Given the description of an element on the screen output the (x, y) to click on. 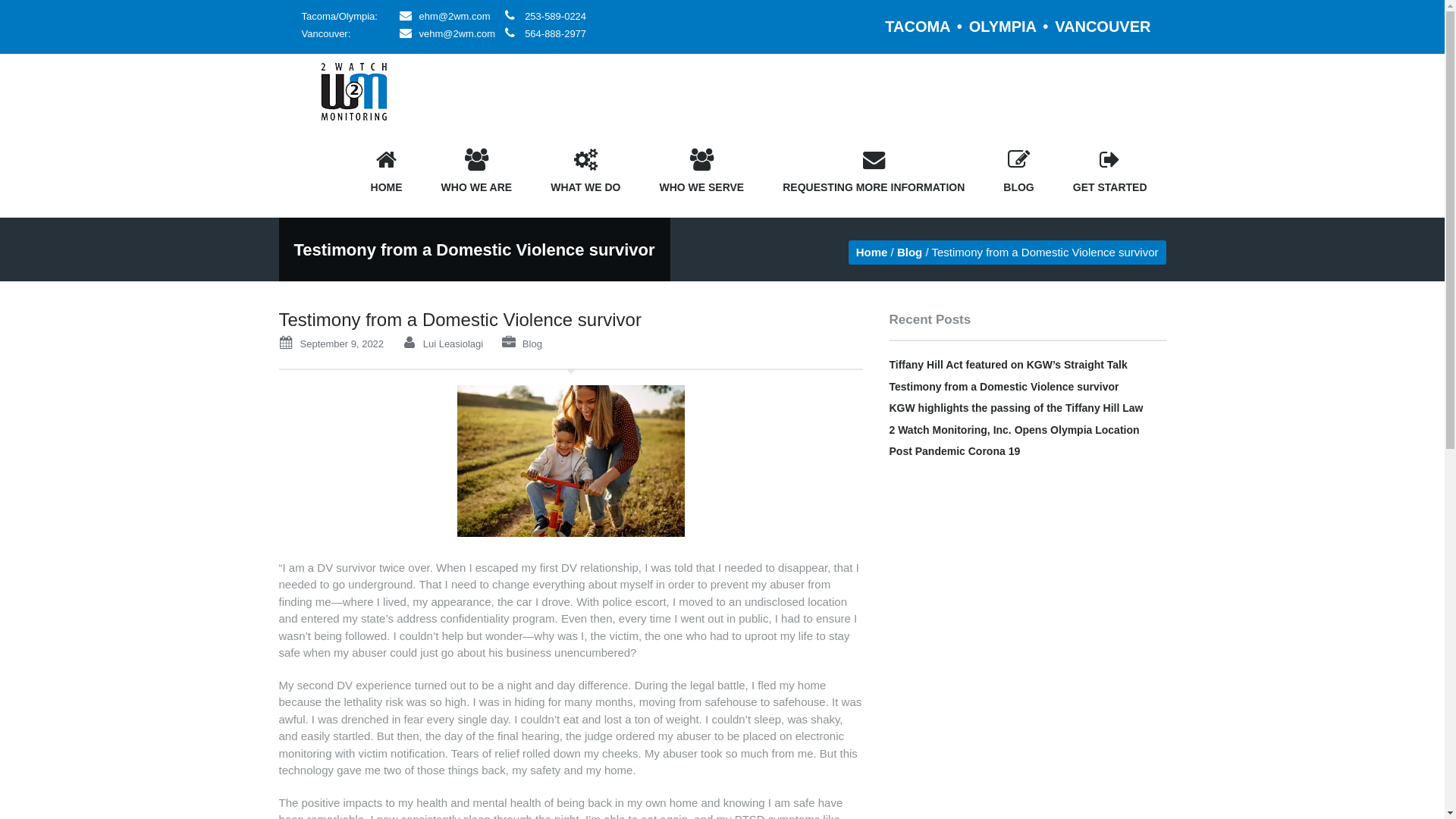
HOME Element type: text (386, 172)
REQUESTING MORE INFORMATION Element type: text (873, 172)
BLOG Element type: text (1018, 172)
Blog Element type: text (909, 251)
Testimony from a Domestic Violence survivor Element type: text (1003, 386)
GET STARTED Element type: text (1110, 172)
Lui Leasiolagi Element type: text (453, 343)
253-589-0224 Element type: text (555, 15)
2 Watch Monitoring, Inc. Opens Olympia Location Element type: text (1013, 429)
Home Element type: text (872, 251)
vehm@2wm.com Element type: text (456, 33)
564-888-2977 Element type: text (555, 33)
OLYMPIA Element type: text (1002, 26)
Blog Element type: text (532, 343)
KGW highlights the passing of the Tiffany Hill Law Element type: text (1015, 407)
TACOMA Element type: text (917, 26)
ehm@2wm.com Element type: text (453, 15)
VANCOUVER Element type: text (1102, 26)
Post Pandemic Corona 19 Element type: text (953, 451)
